Given the description of an element on the screen output the (x, y) to click on. 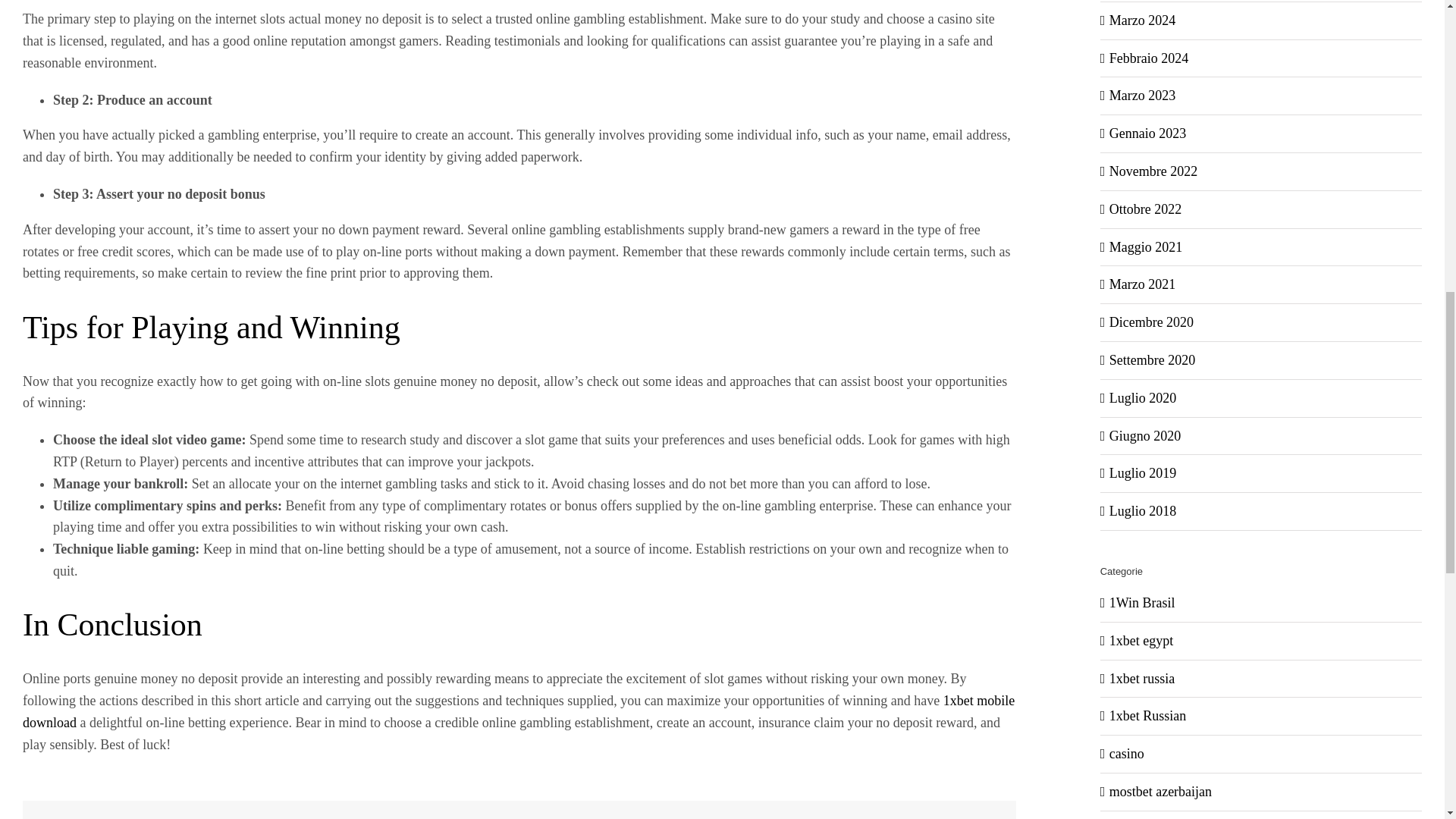
1xbet mobile download (518, 711)
